Given the description of an element on the screen output the (x, y) to click on. 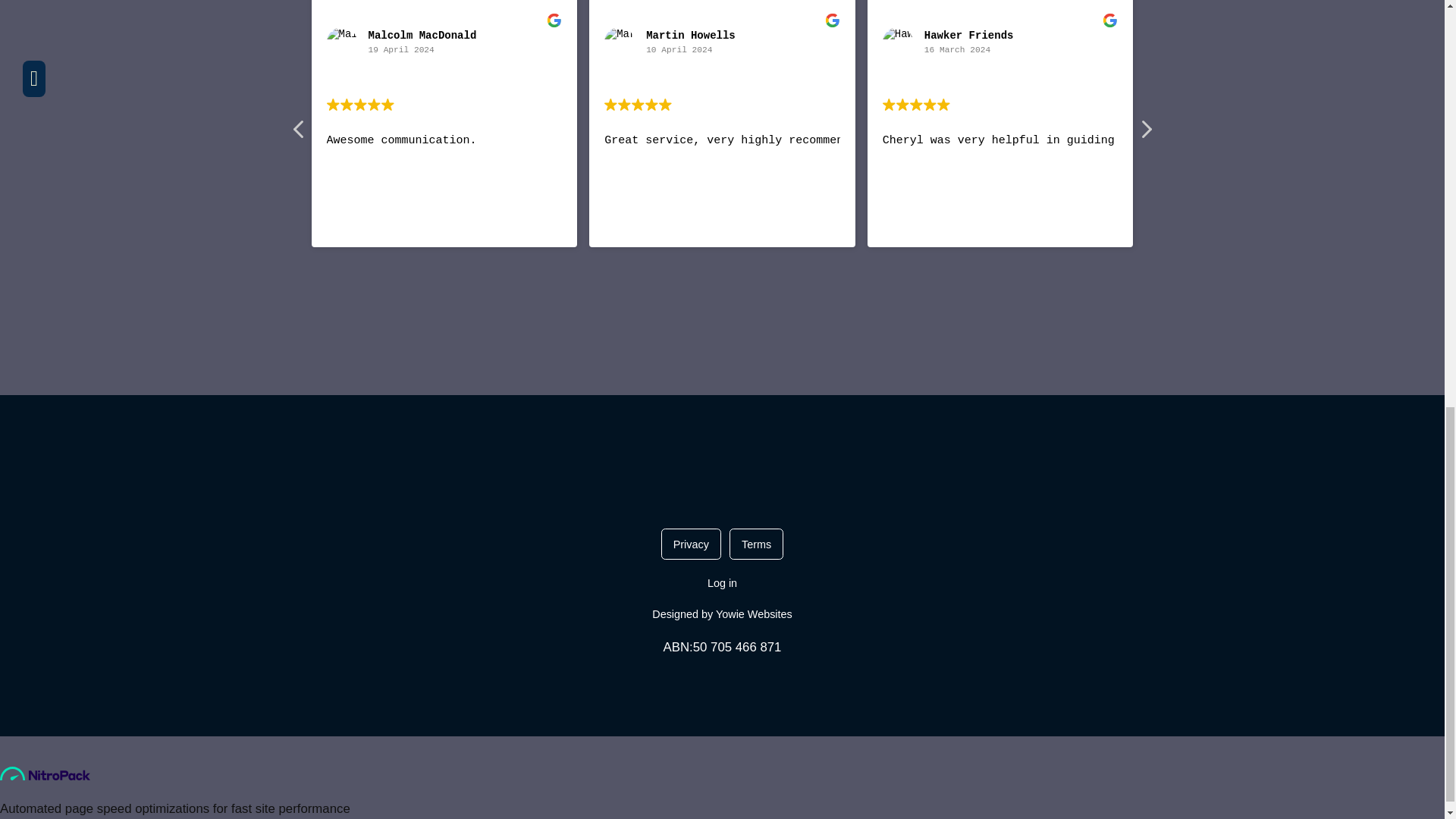
Privacy (690, 544)
Log in (721, 582)
Terms (756, 544)
